Given the description of an element on the screen output the (x, y) to click on. 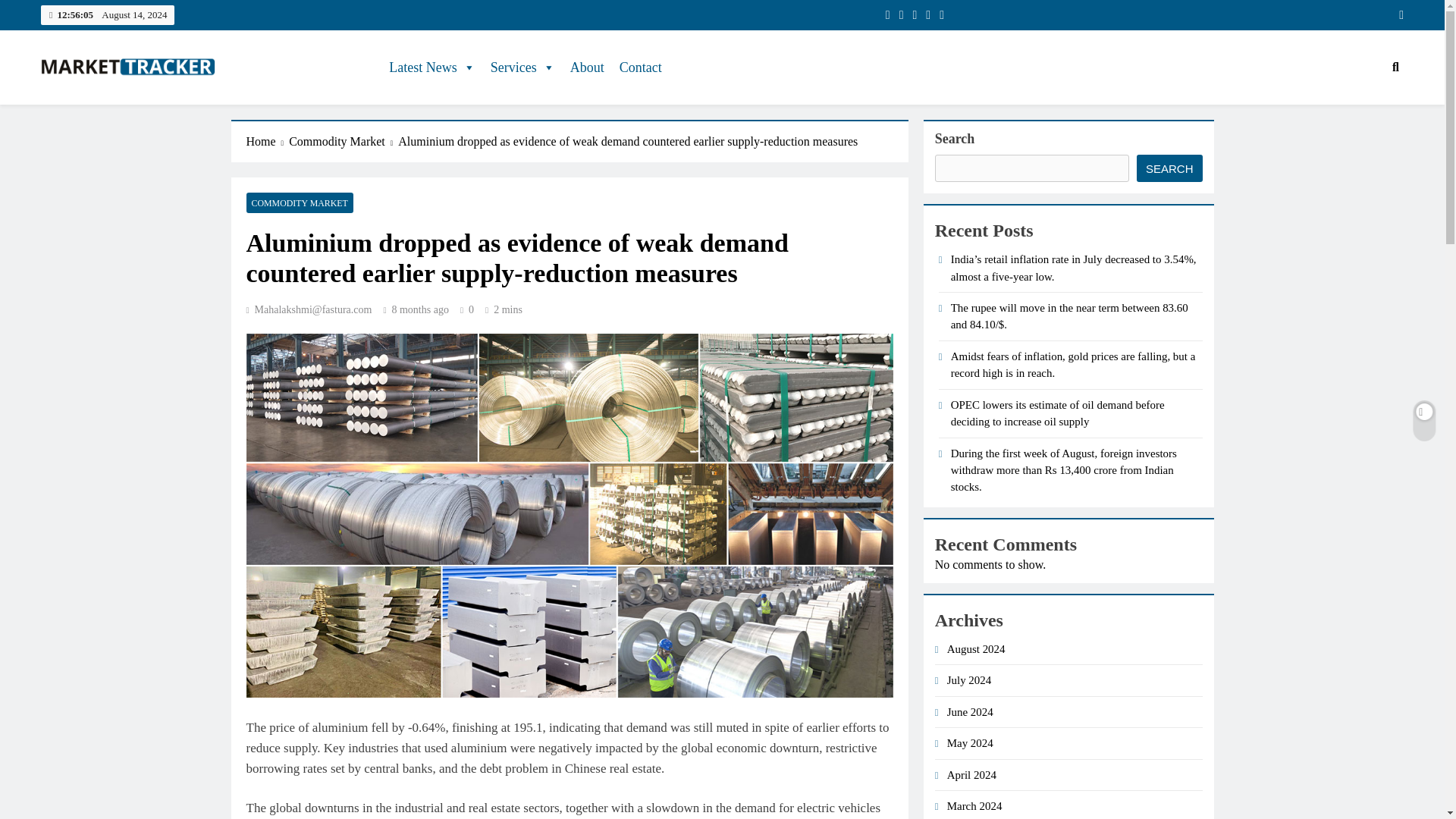
Latest News (431, 67)
Market-Tracker (122, 105)
Services (522, 67)
